Given the description of an element on the screen output the (x, y) to click on. 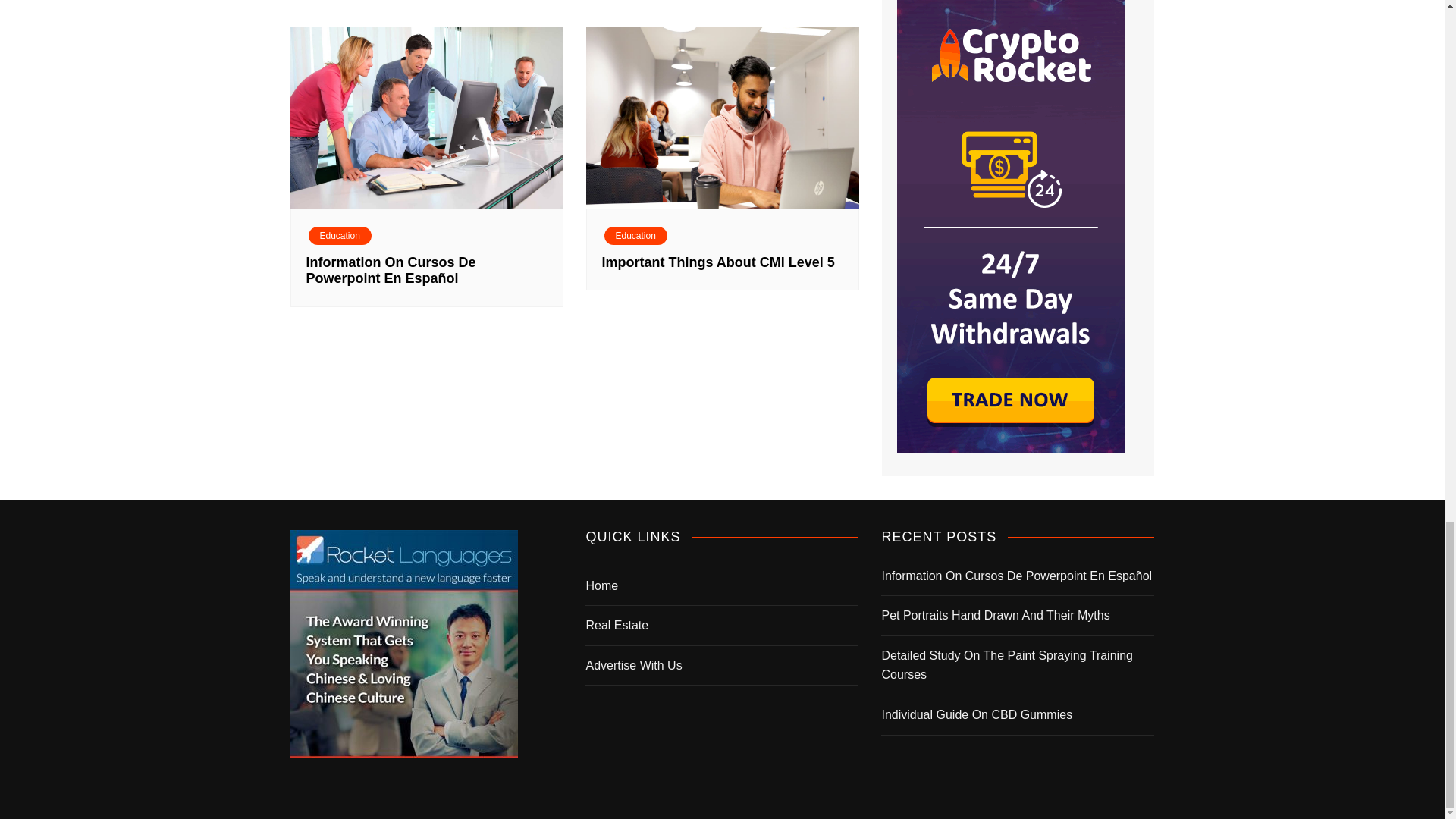
Education (635, 235)
Education (339, 235)
Important Things About CMI Level 5 (718, 262)
